Given the description of an element on the screen output the (x, y) to click on. 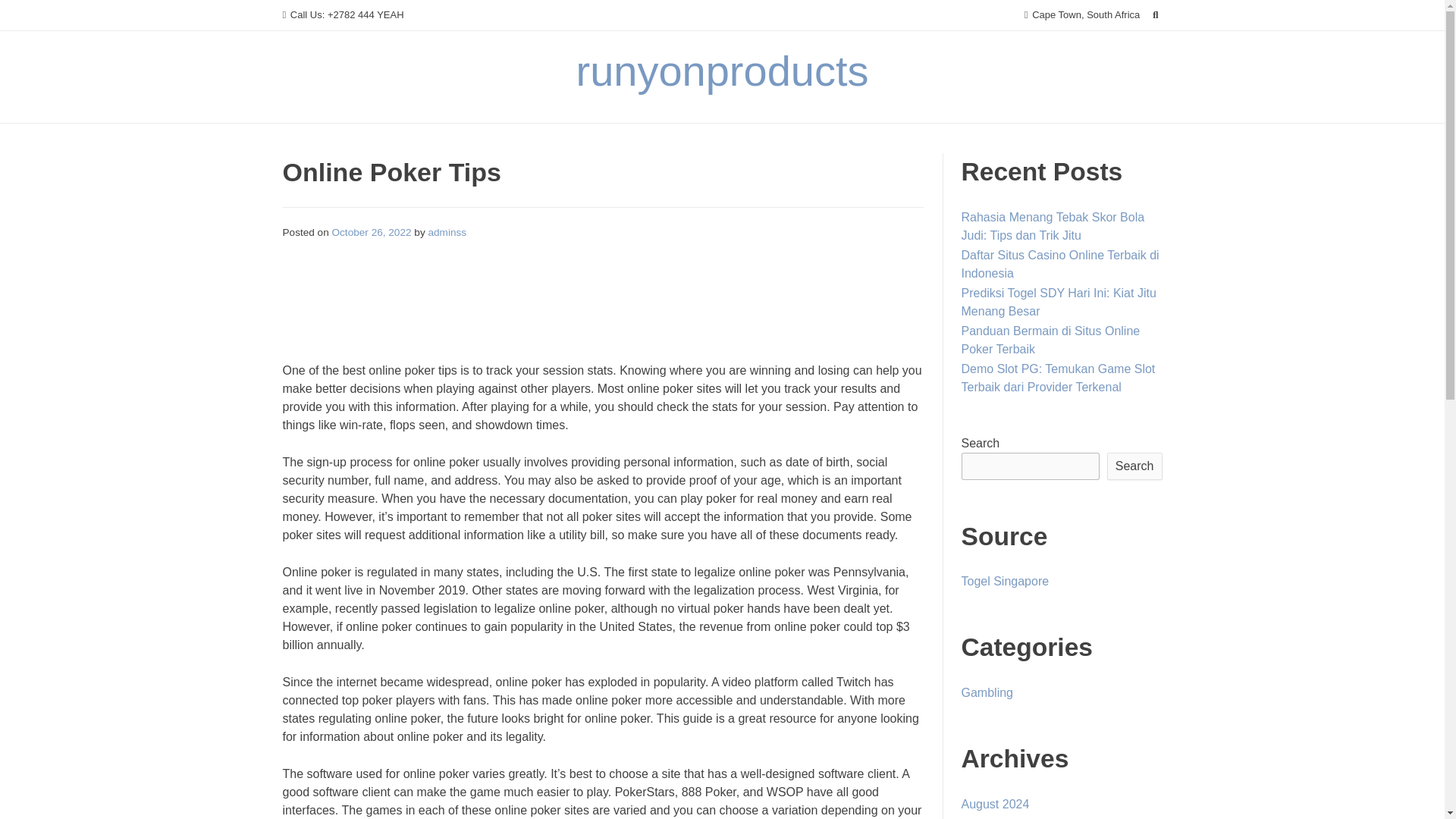
Panduan Bermain di Situs Online Poker Terbaik (1050, 339)
Rahasia Menang Tebak Skor Bola Judi: Tips dan Trik Jitu (1052, 225)
Togel Singapore (1004, 581)
August 2024 (994, 803)
Prediksi Togel SDY Hari Ini: Kiat Jitu Menang Besar (1058, 301)
July 2024 (986, 818)
Search (1133, 465)
Search (27, 13)
October 26, 2022 (371, 232)
Gambling (986, 692)
Daftar Situs Casino Online Terbaik di Indonesia (1059, 264)
adminss (446, 232)
runyonproducts (721, 70)
